Given the description of an element on the screen output the (x, y) to click on. 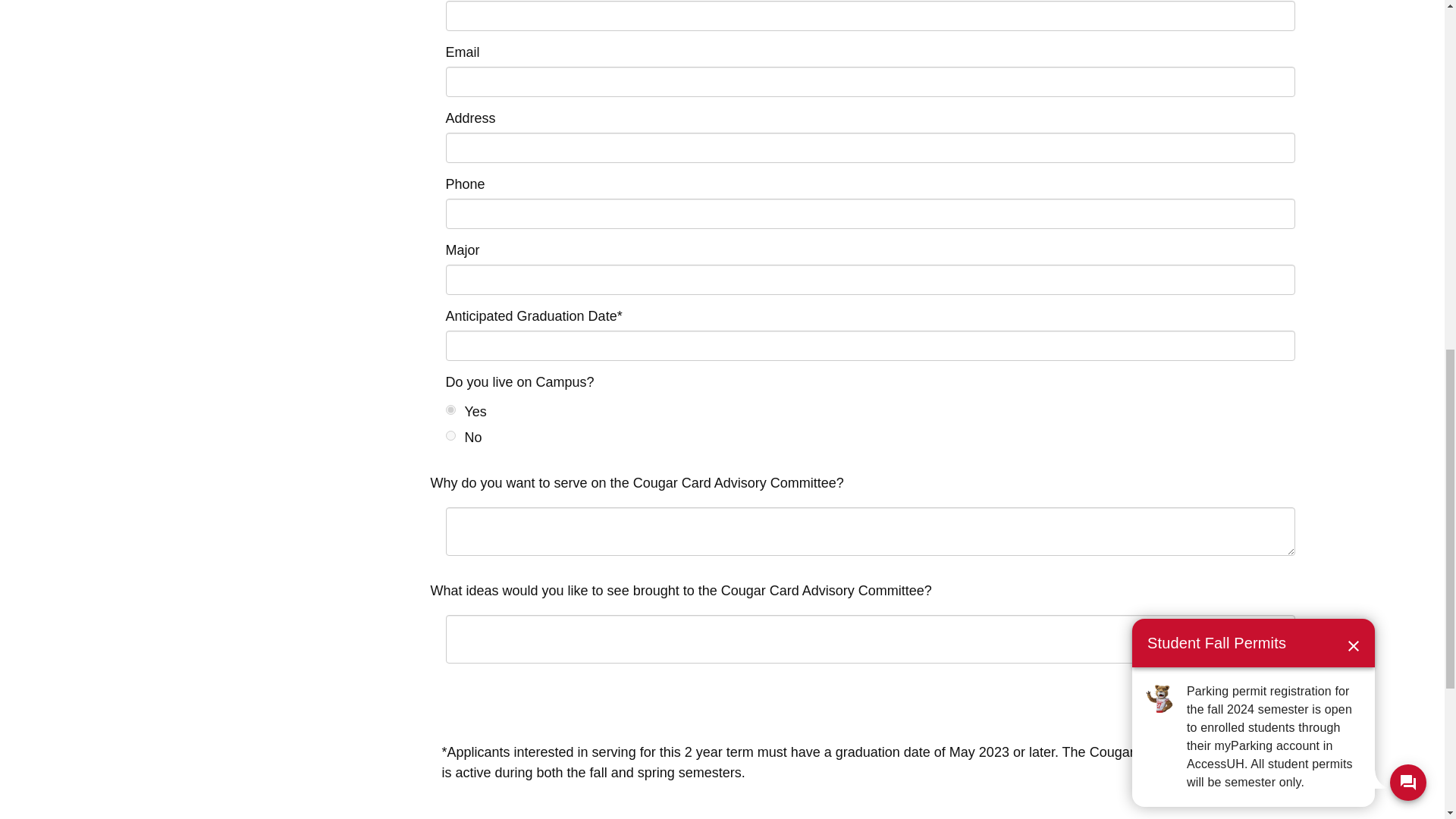
no (450, 435)
yes (450, 409)
Submit (1266, 701)
